Given the description of an element on the screen output the (x, y) to click on. 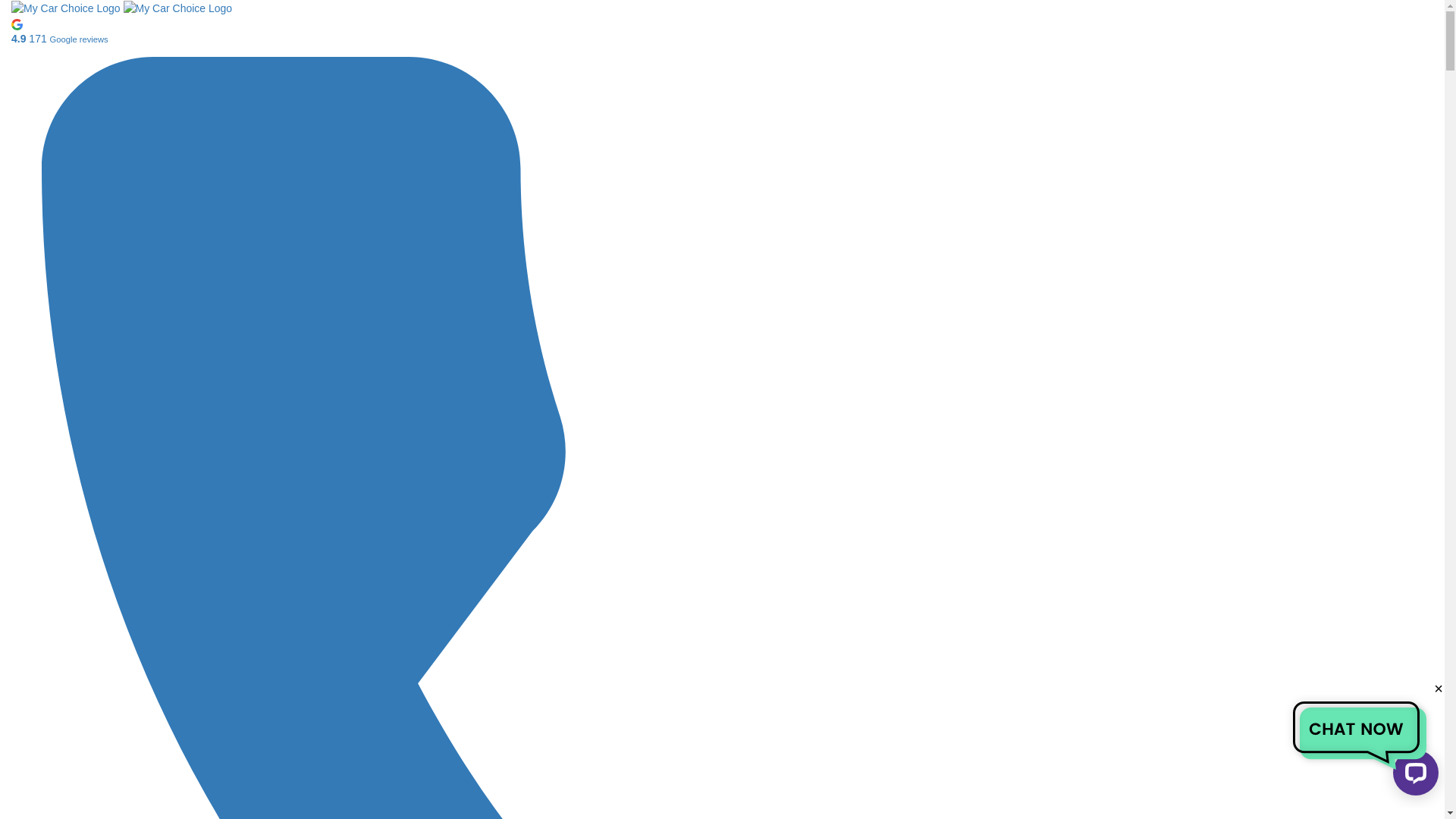
LiveChat chat widget Element type: hover (1412, 775)
My Car Choice Element type: hover (121, 7)
used Element type: text (4, 4)
My Car Choice Element type: hover (65, 7)
4.9 171 Google reviews Element type: text (722, 30)
My Car Choice Element type: hover (177, 7)
